Given the description of an element on the screen output the (x, y) to click on. 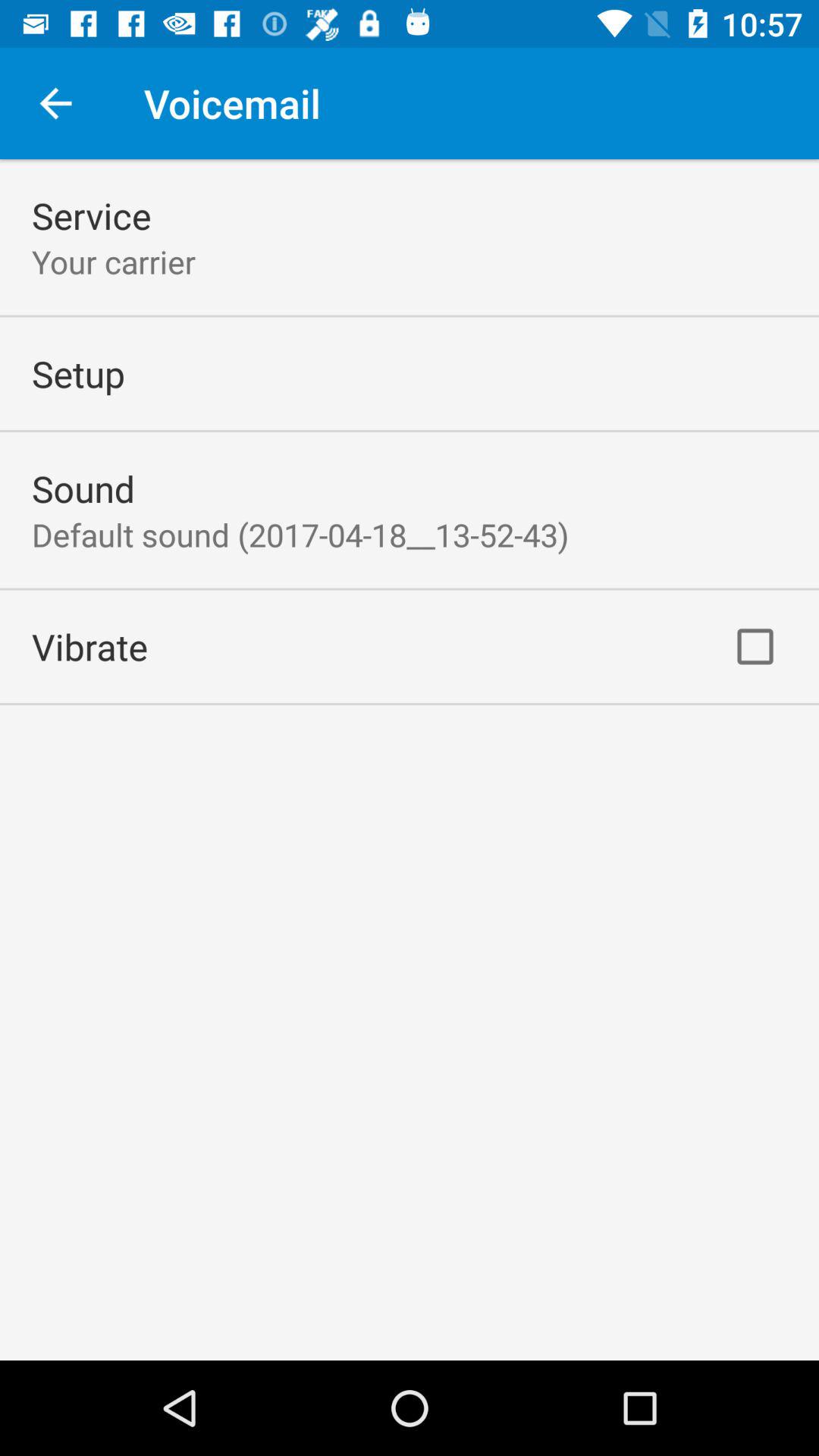
open your carrier icon (113, 261)
